Given the description of an element on the screen output the (x, y) to click on. 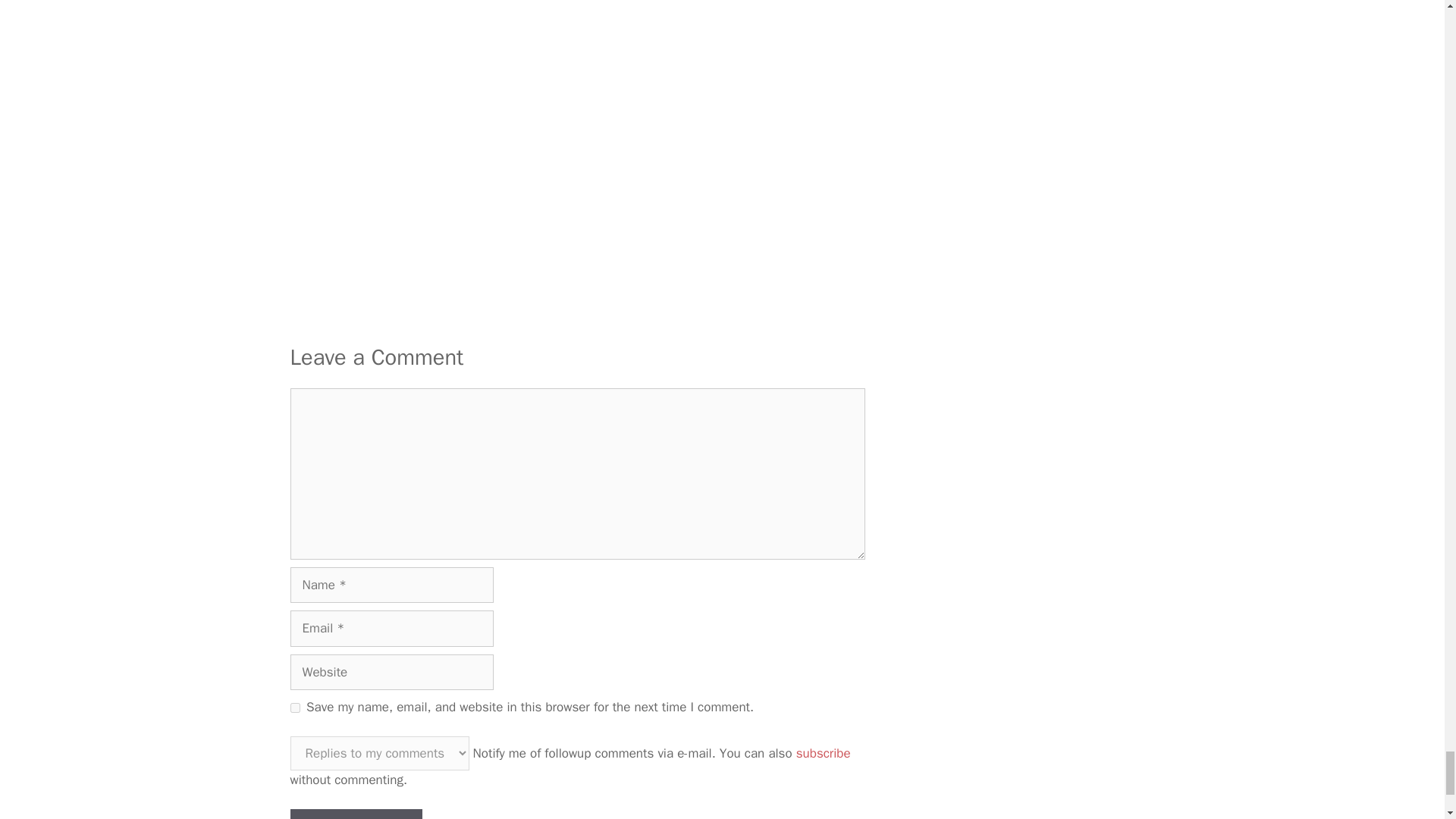
Post Comment (355, 814)
yes (294, 707)
